Given the description of an element on the screen output the (x, y) to click on. 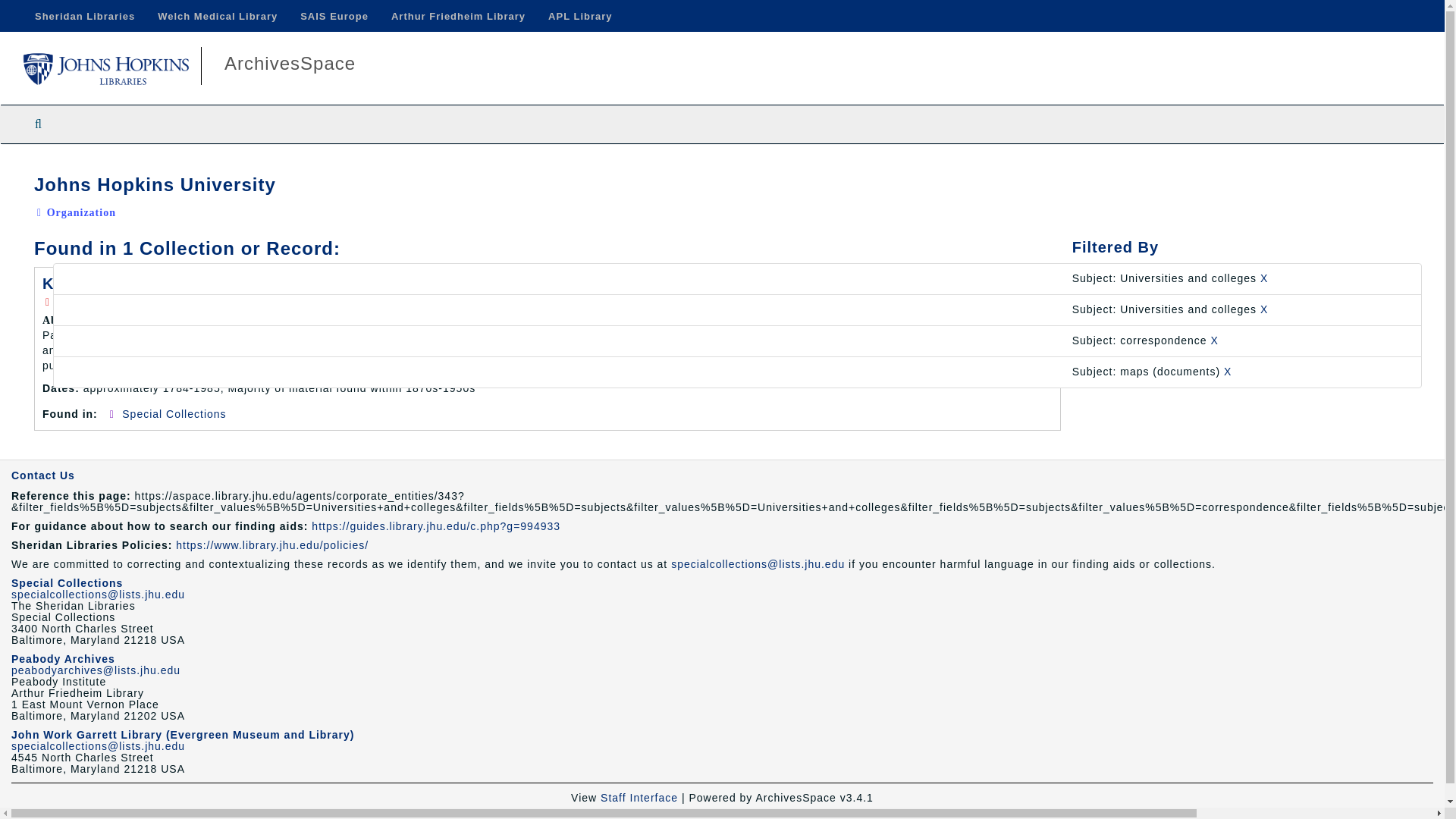
SAIS Europe (334, 15)
Welch Medical Library (217, 15)
Peabody Archives (63, 658)
Keyser family papers (125, 283)
Remove this filter  (1264, 277)
Remove this filter  (1214, 340)
X (1214, 340)
X (1227, 371)
Search The Archives (38, 124)
Staff Interface (638, 797)
APL Library (580, 15)
Special Collections (173, 413)
Remove this filter  (1227, 371)
Page Actions (1130, 167)
X (1264, 309)
